Given the description of an element on the screen output the (x, y) to click on. 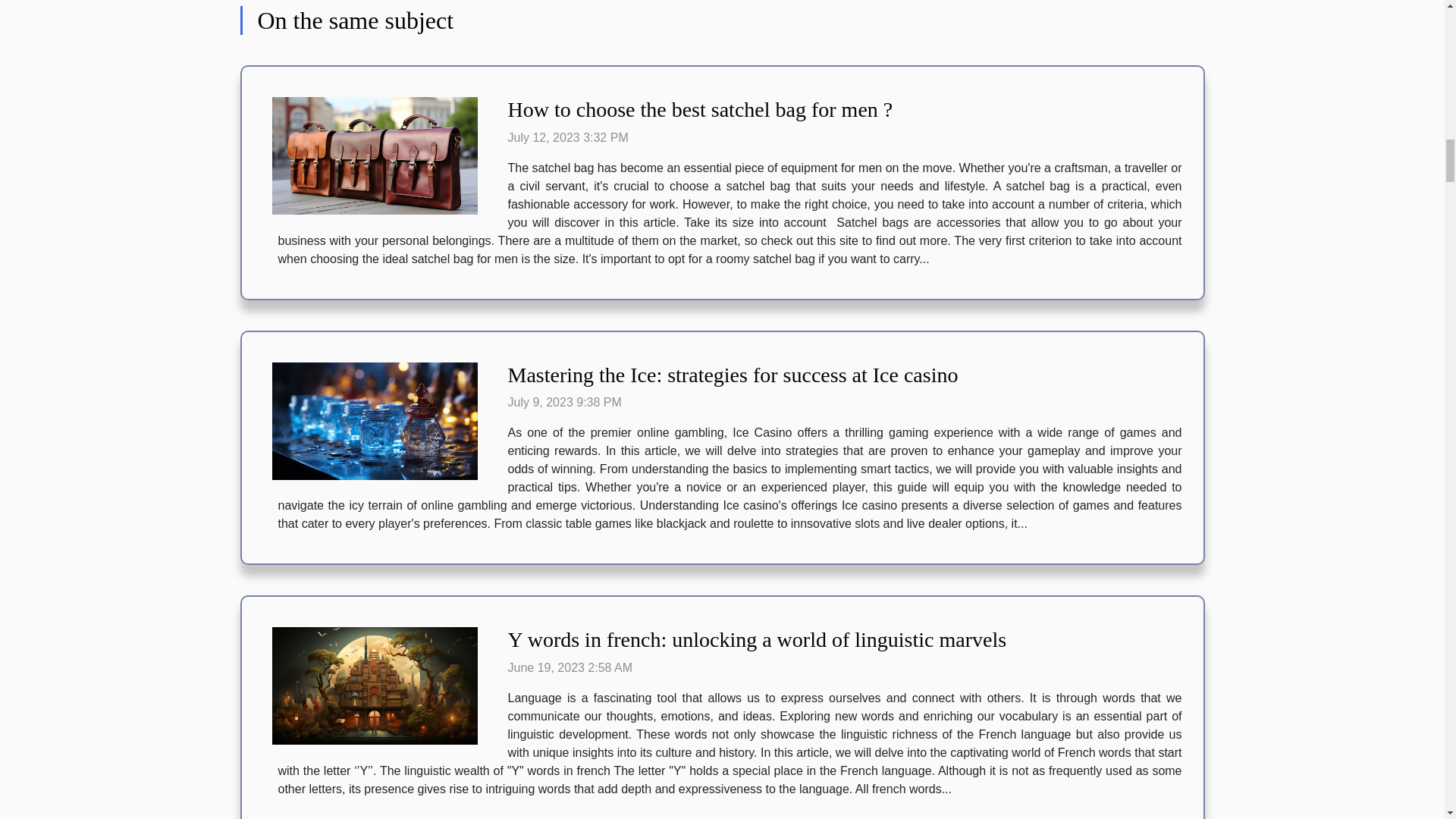
Mastering the Ice: strategies for success at Ice casino (733, 374)
How to choose the best satchel bag for men ? (700, 109)
Mastering the Ice: strategies for success at Ice casino (733, 374)
How to choose the best satchel bag for men ? (700, 109)
Y words in french: unlocking a world of linguistic marvels (757, 639)
Y words in french: unlocking a world of linguistic marvels (757, 639)
